Given the description of an element on the screen output the (x, y) to click on. 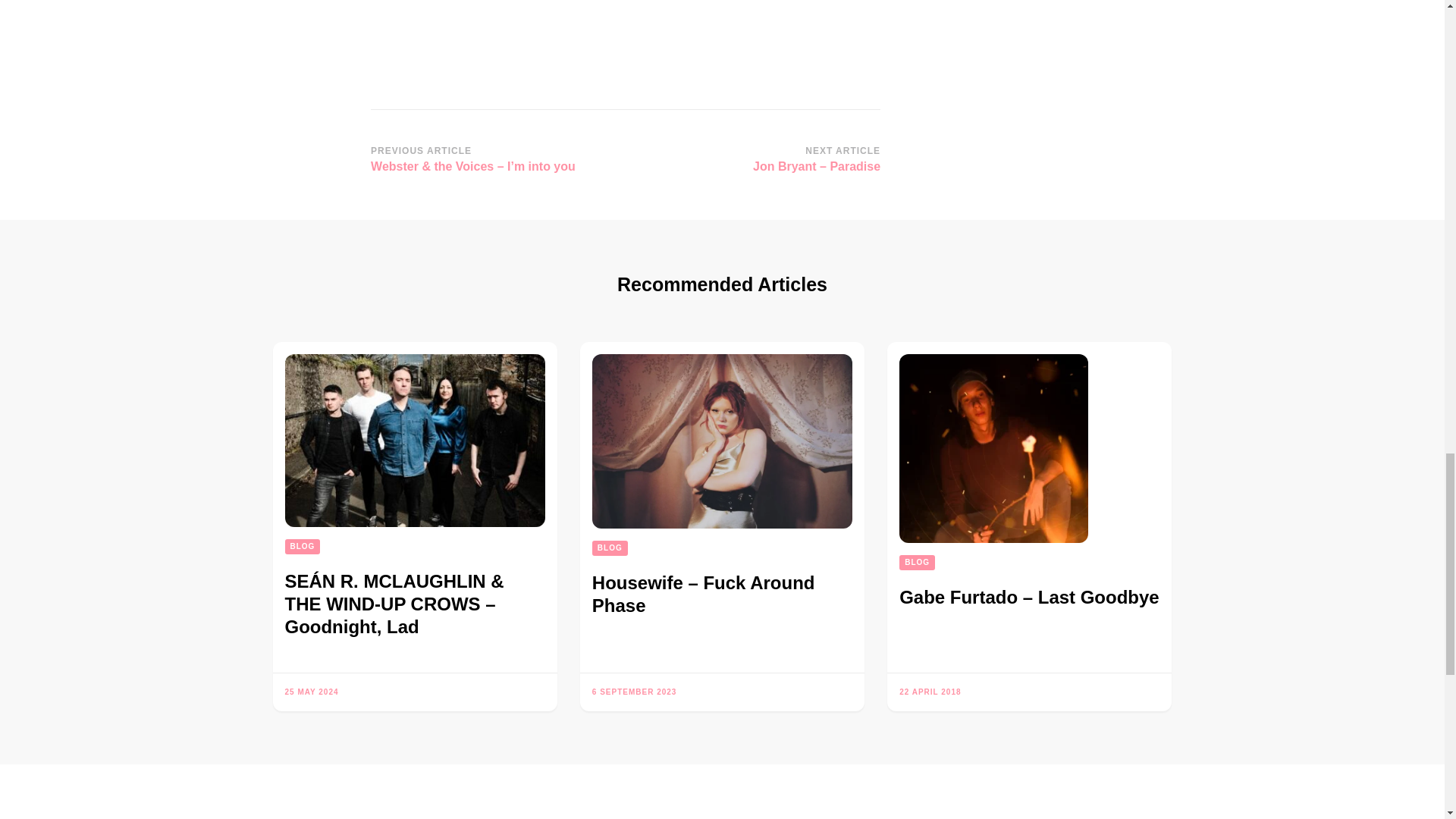
BLOG (302, 546)
25 MAY 2024 (312, 691)
BLOG (609, 548)
6 SEPTEMBER 2023 (634, 691)
